Given the description of an element on the screen output the (x, y) to click on. 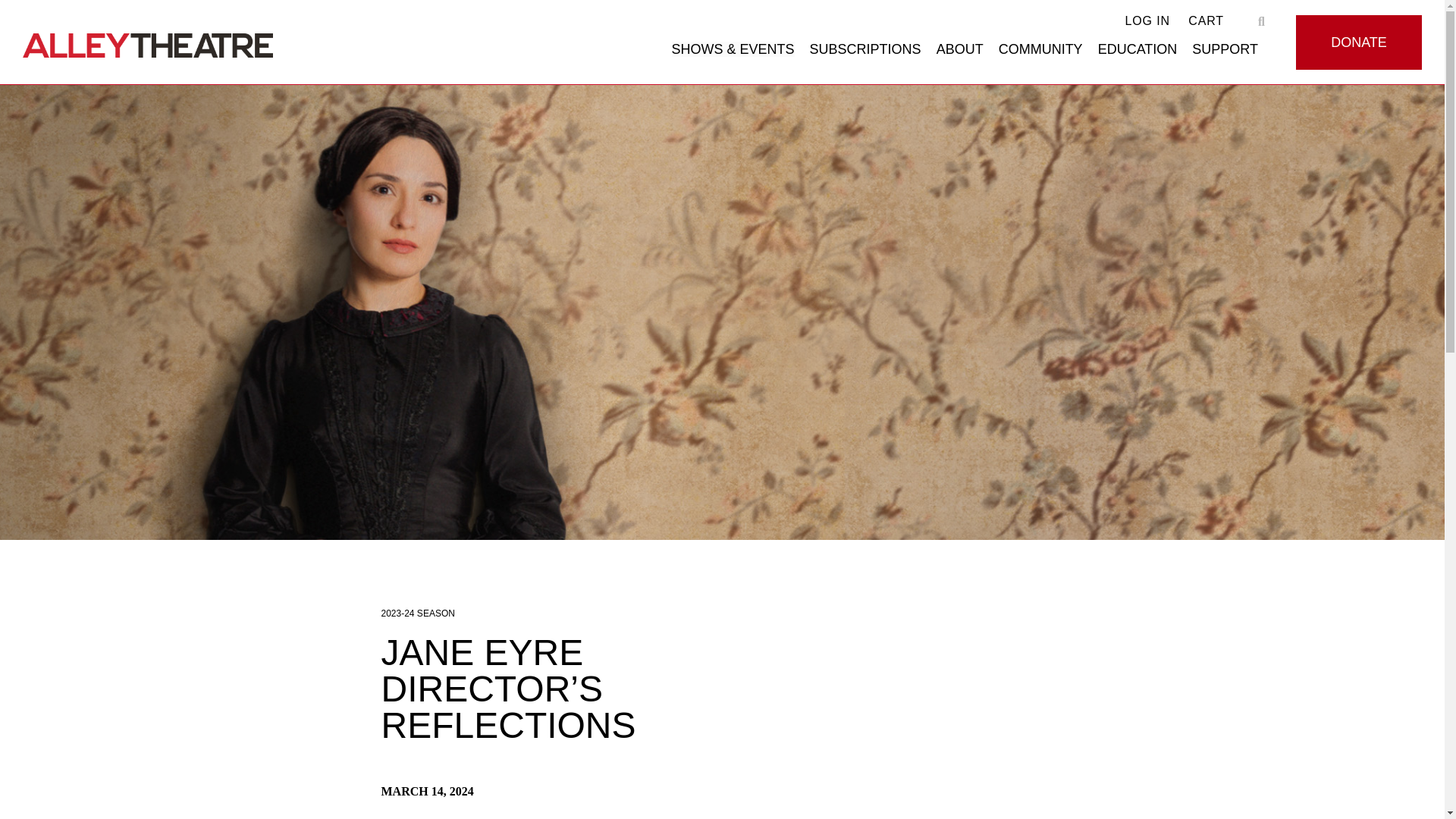
LOG IN (1147, 20)
ABOUT (960, 48)
CART (1206, 20)
SUBSCRIPTIONS (865, 48)
